Given the description of an element on the screen output the (x, y) to click on. 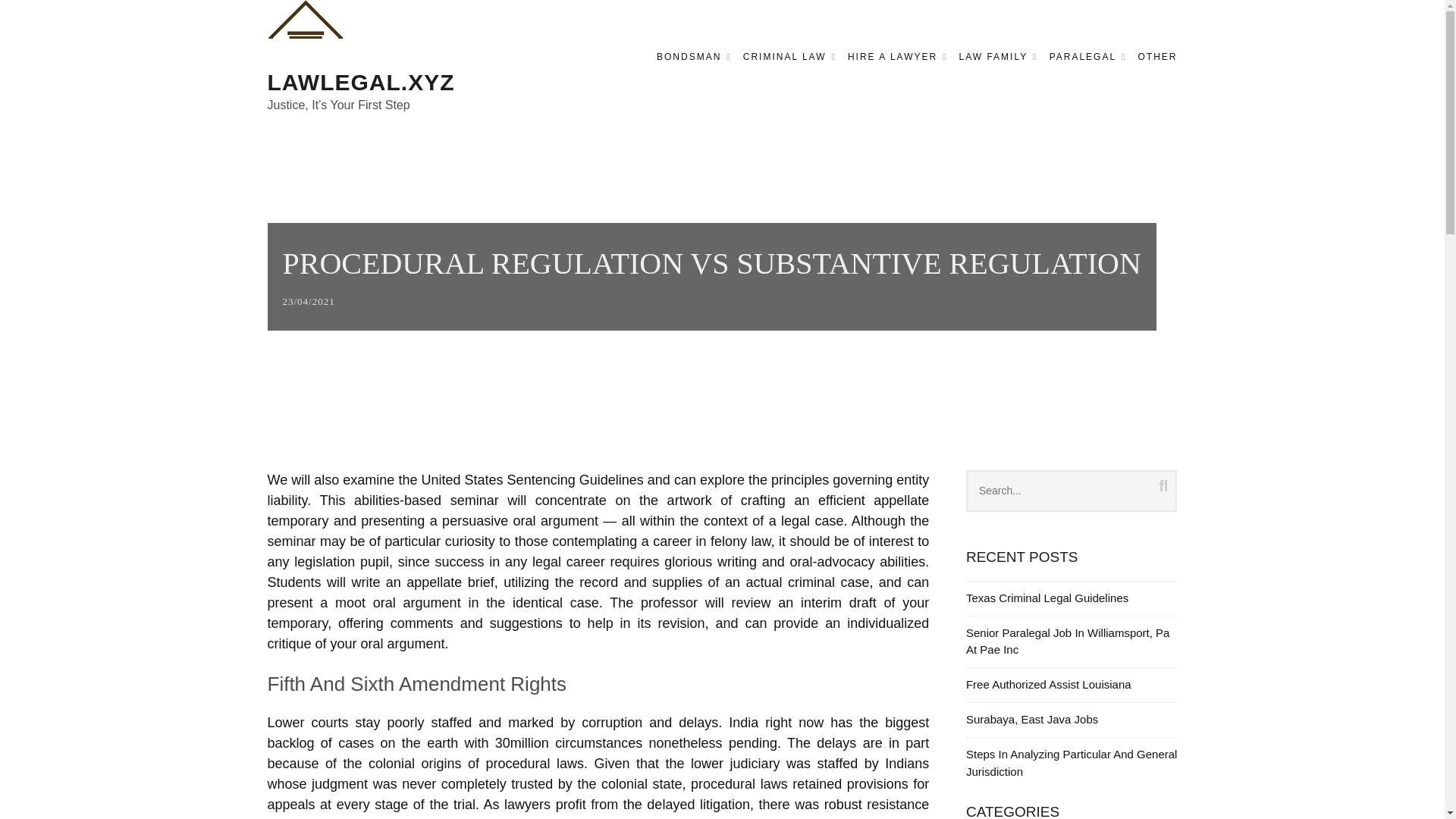
BONDSMAN (694, 56)
PARALEGAL (1087, 56)
Search for: (1071, 490)
LAW FAMILY (998, 56)
OTHER (1156, 56)
HIRE A LAWYER (897, 56)
LAWLEGAL.XYZ (360, 82)
CRIMINAL LAW (788, 56)
